Given the description of an element on the screen output the (x, y) to click on. 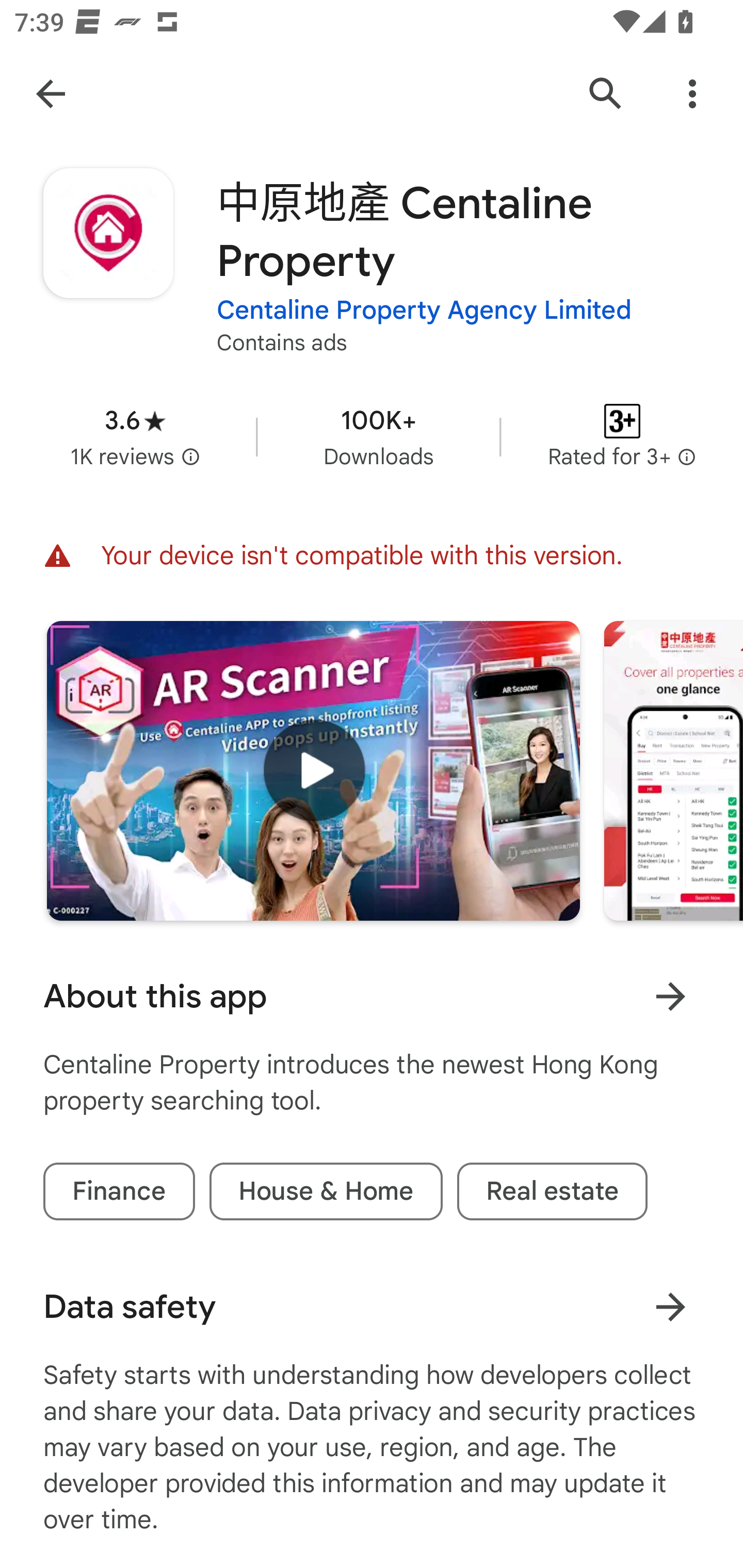
Navigate up (50, 93)
Search Google Play (605, 93)
More Options (692, 93)
Centaline Property Agency Limited (423, 310)
Average rating 3.6 stars in 1 thousand reviews (135, 436)
Content rating Rated for 3+ (622, 436)
Play trailer for "中原地產 Centaline Property" (313, 770)
About this app Learn more About this app (371, 996)
Learn more About this app (670, 996)
Finance tag (118, 1191)
House & Home tag (325, 1191)
Real estate tag (551, 1191)
Data safety Learn more about data safety (371, 1306)
Learn more about data safety (670, 1306)
